Given the description of an element on the screen output the (x, y) to click on. 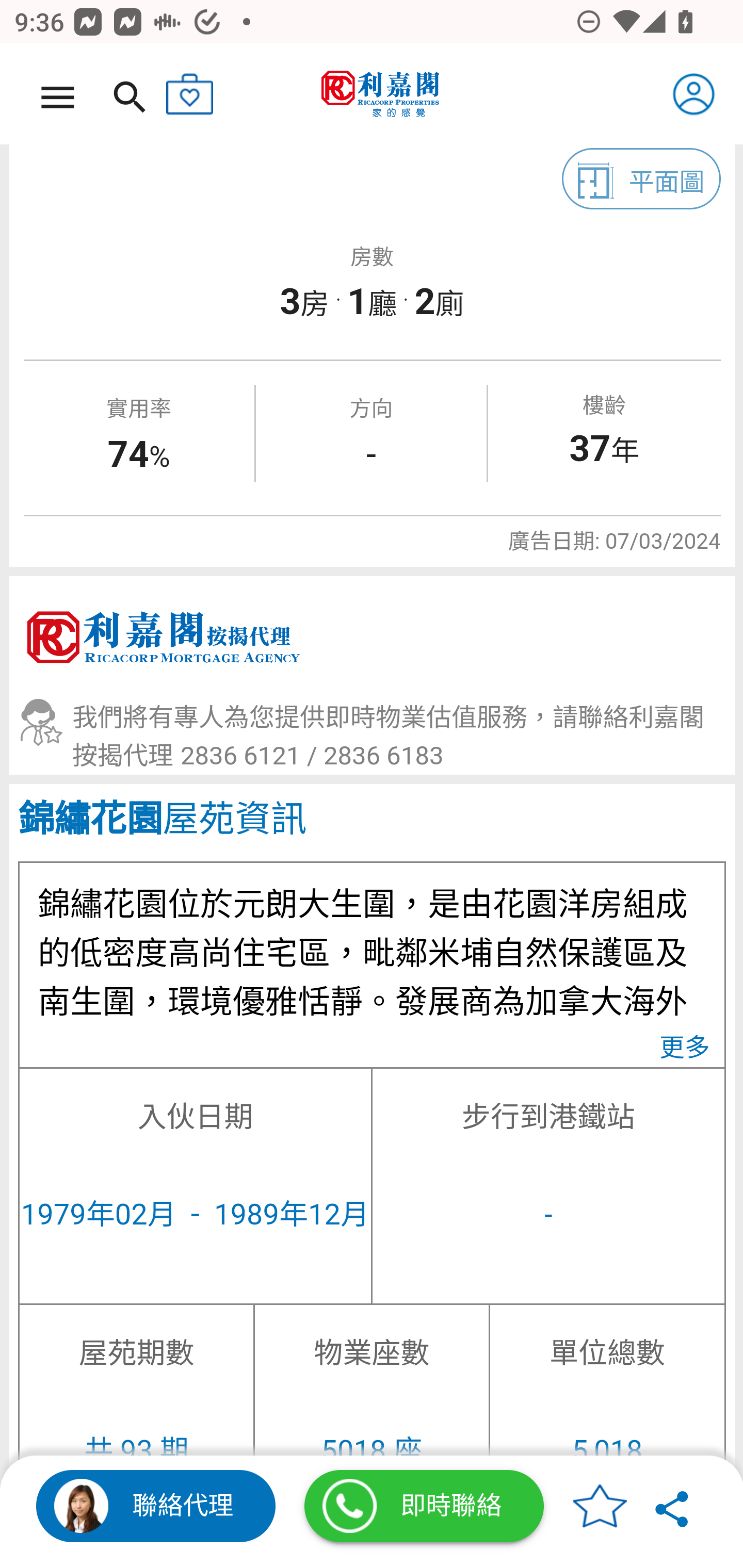
平面圖 (641, 179)
Tracy Yeung 聯絡代理 (156, 1505)
whatsapp 即時聯絡 (424, 1505)
Share button (672, 1505)
